Given the description of an element on the screen output the (x, y) to click on. 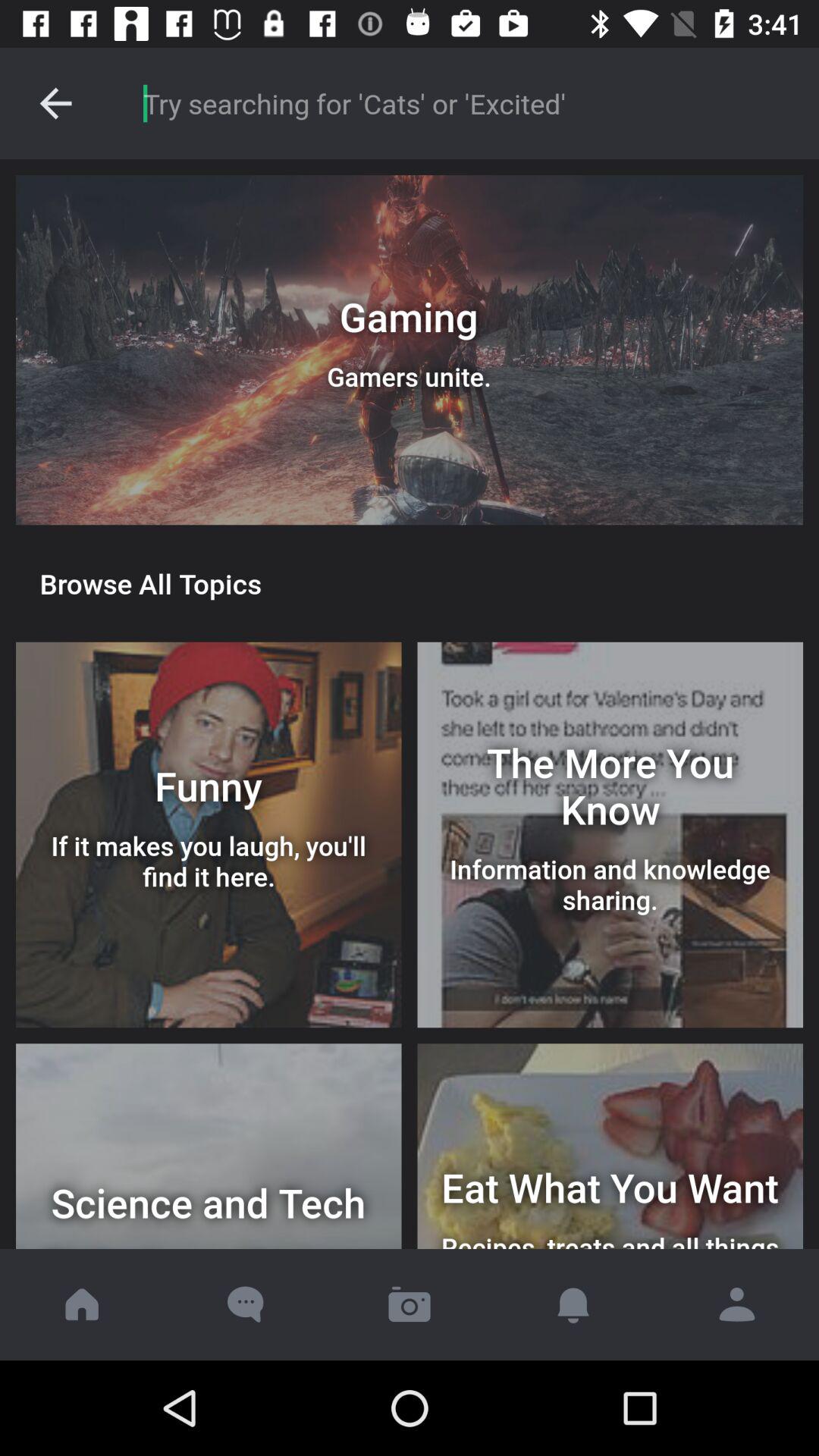
open contacts (737, 1304)
